Given the description of an element on the screen output the (x, y) to click on. 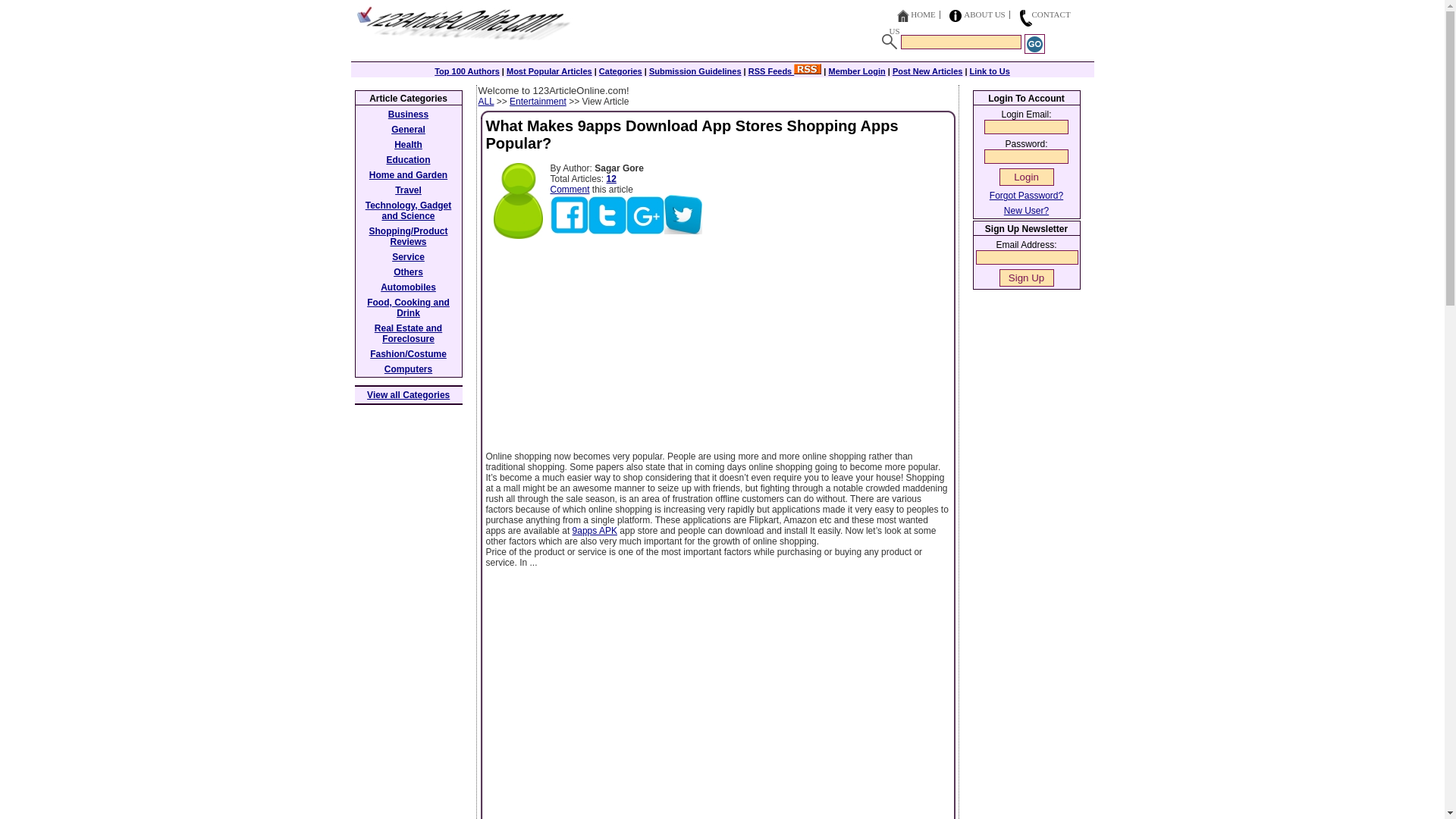
ALL (485, 101)
Comment (569, 189)
Categories (620, 71)
12 (611, 178)
Top 100 Authors (466, 71)
Submission Guidelines (695, 71)
Most Popular Articles (549, 71)
9apps APK (594, 530)
Entertainment (537, 101)
